Given the description of an element on the screen output the (x, y) to click on. 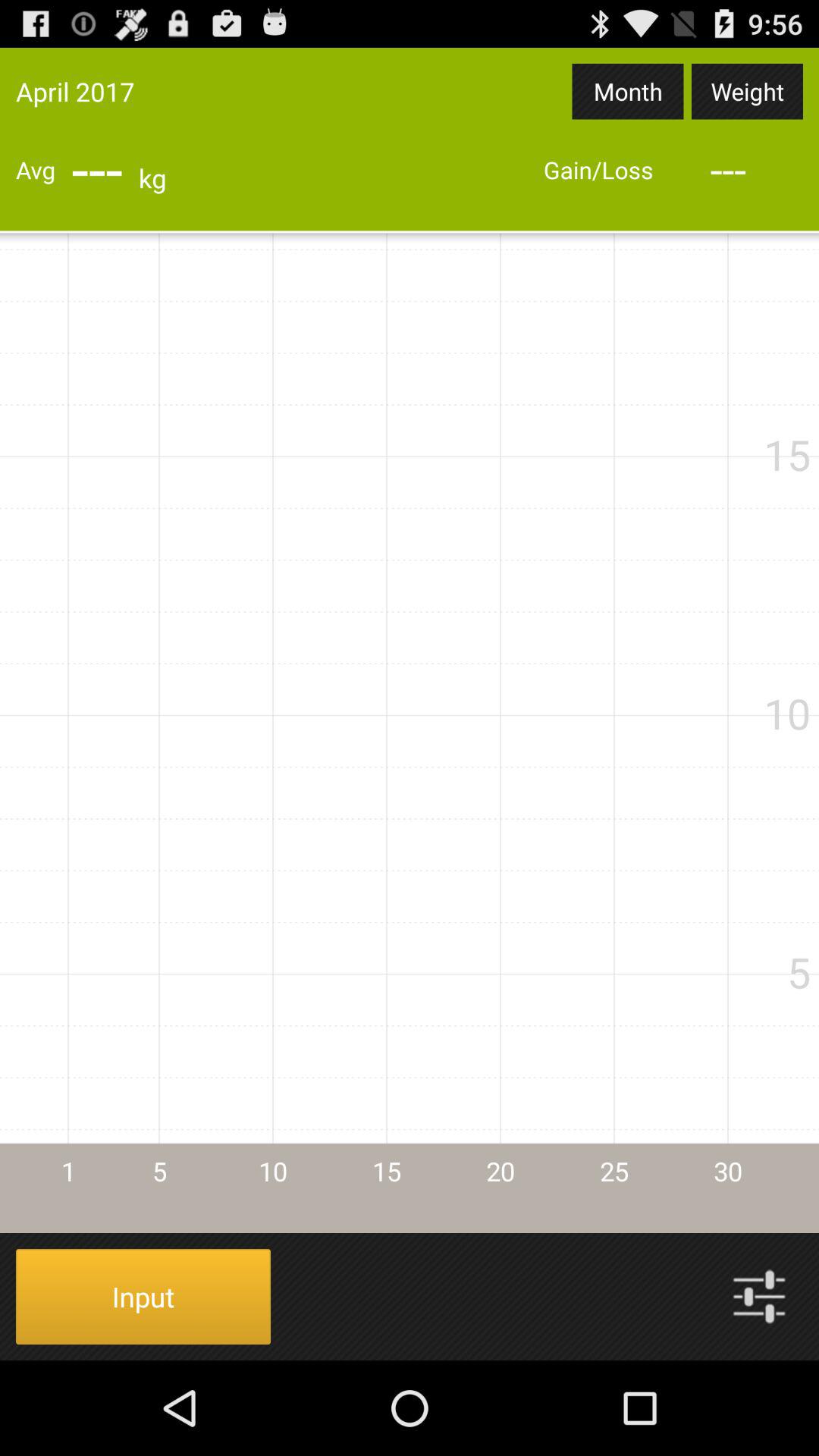
scroll until the input (142, 1296)
